Given the description of an element on the screen output the (x, y) to click on. 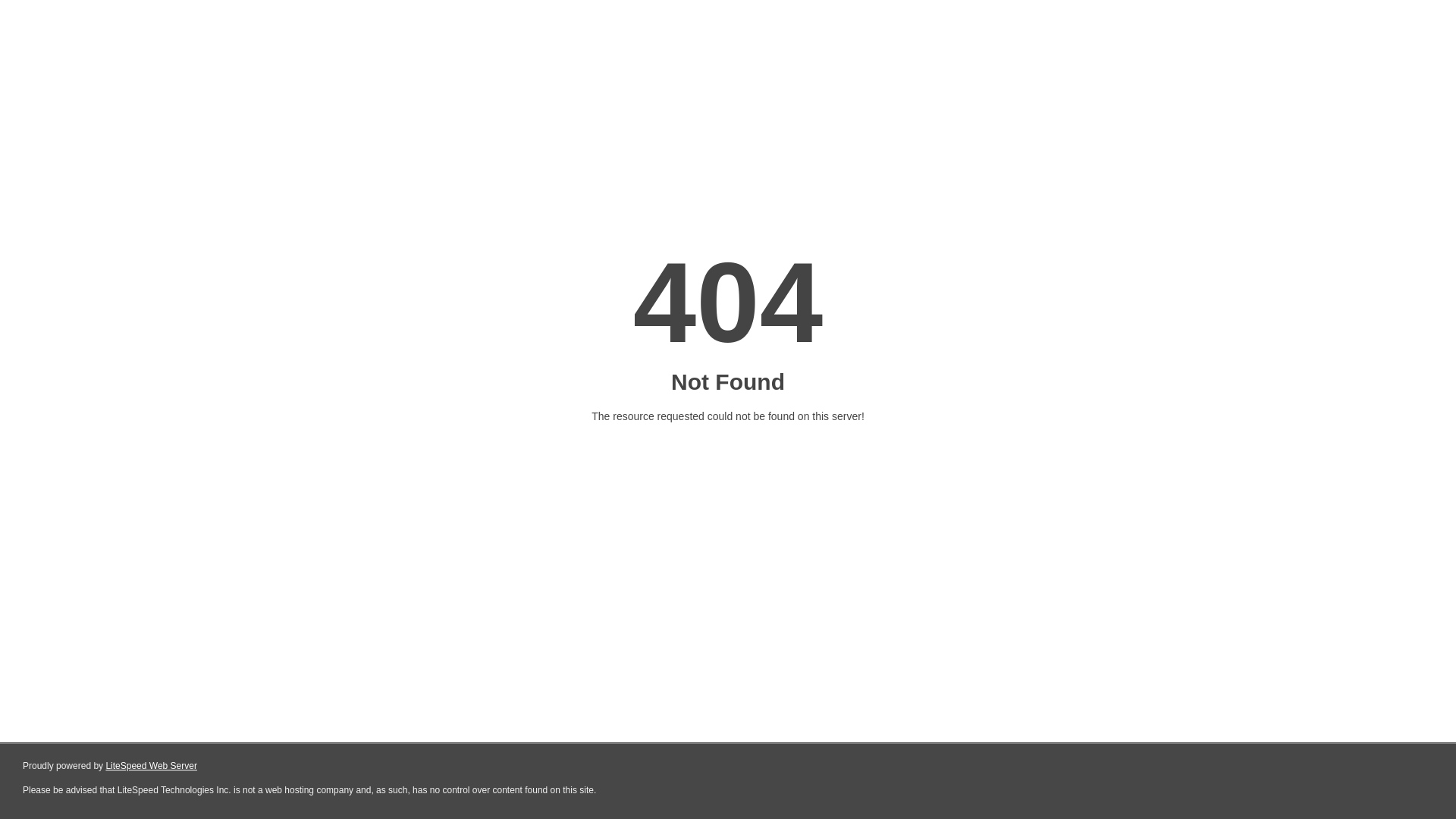
LiteSpeed Web Server Element type: text (151, 765)
